Given the description of an element on the screen output the (x, y) to click on. 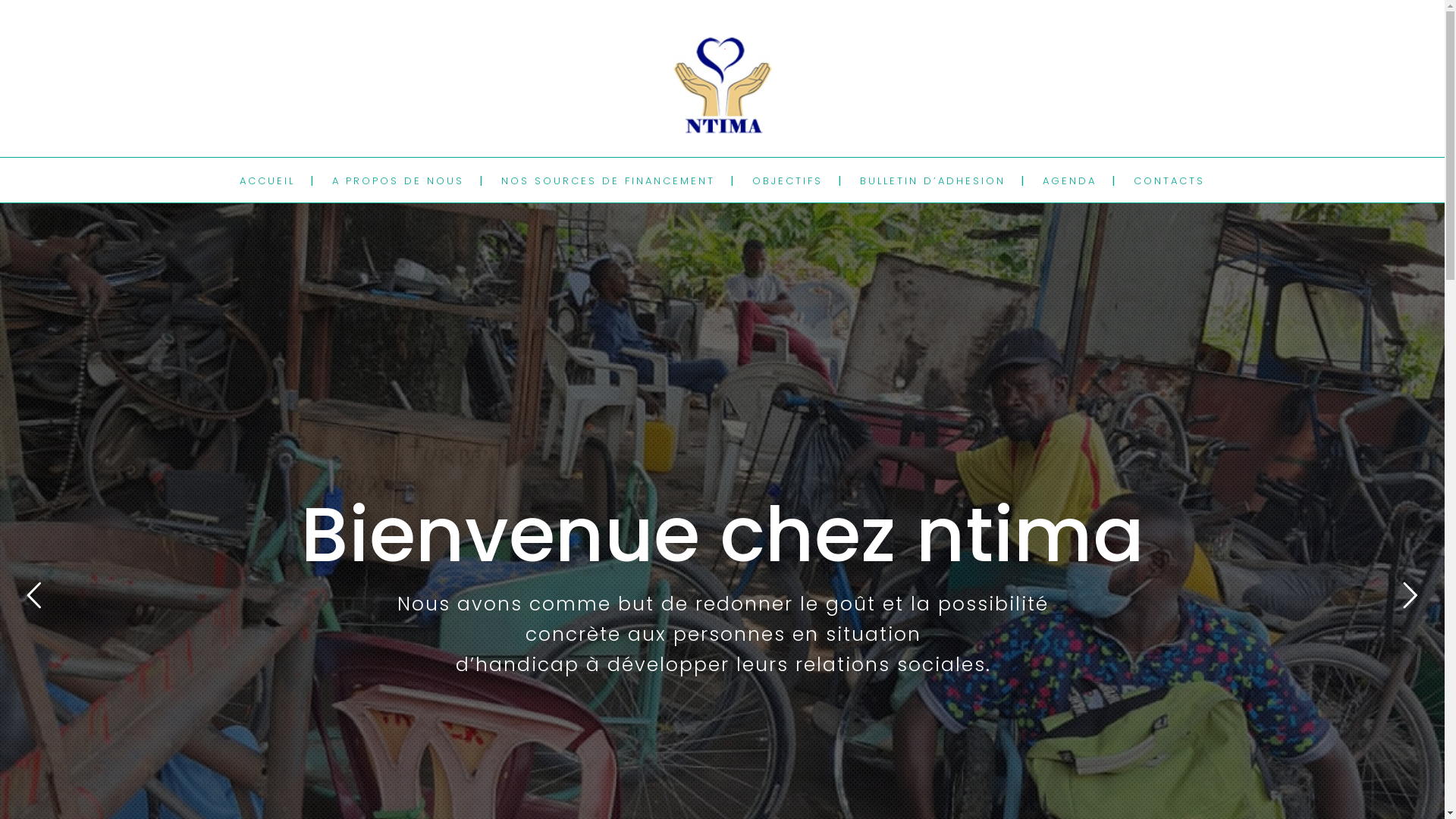
A PROPOS DE NOUS Element type: text (398, 180)
NOS SOURCES DE FINANCEMENT Element type: text (608, 180)
OBJECTIFS Element type: text (787, 180)
AGENDA Element type: text (1069, 180)
ACCUEIL Element type: text (266, 180)
CONTACTS Element type: text (1168, 180)
